Given the description of an element on the screen output the (x, y) to click on. 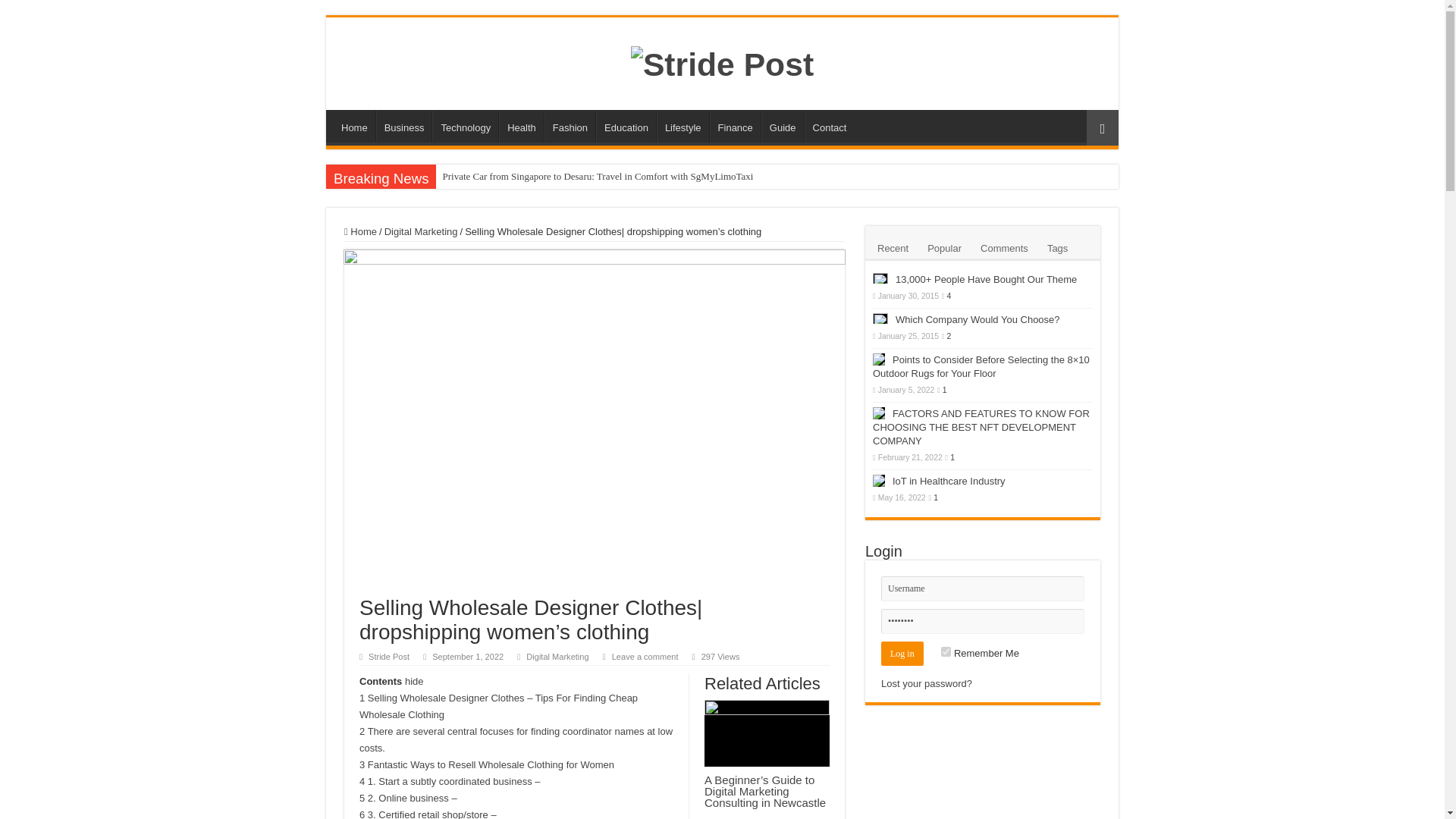
Password (982, 621)
Business (403, 125)
Health (521, 125)
Stride Post (721, 62)
Finance (735, 125)
Random Article (1102, 127)
Education (625, 125)
Lifestyle (682, 125)
Guide (782, 125)
